Given the description of an element on the screen output the (x, y) to click on. 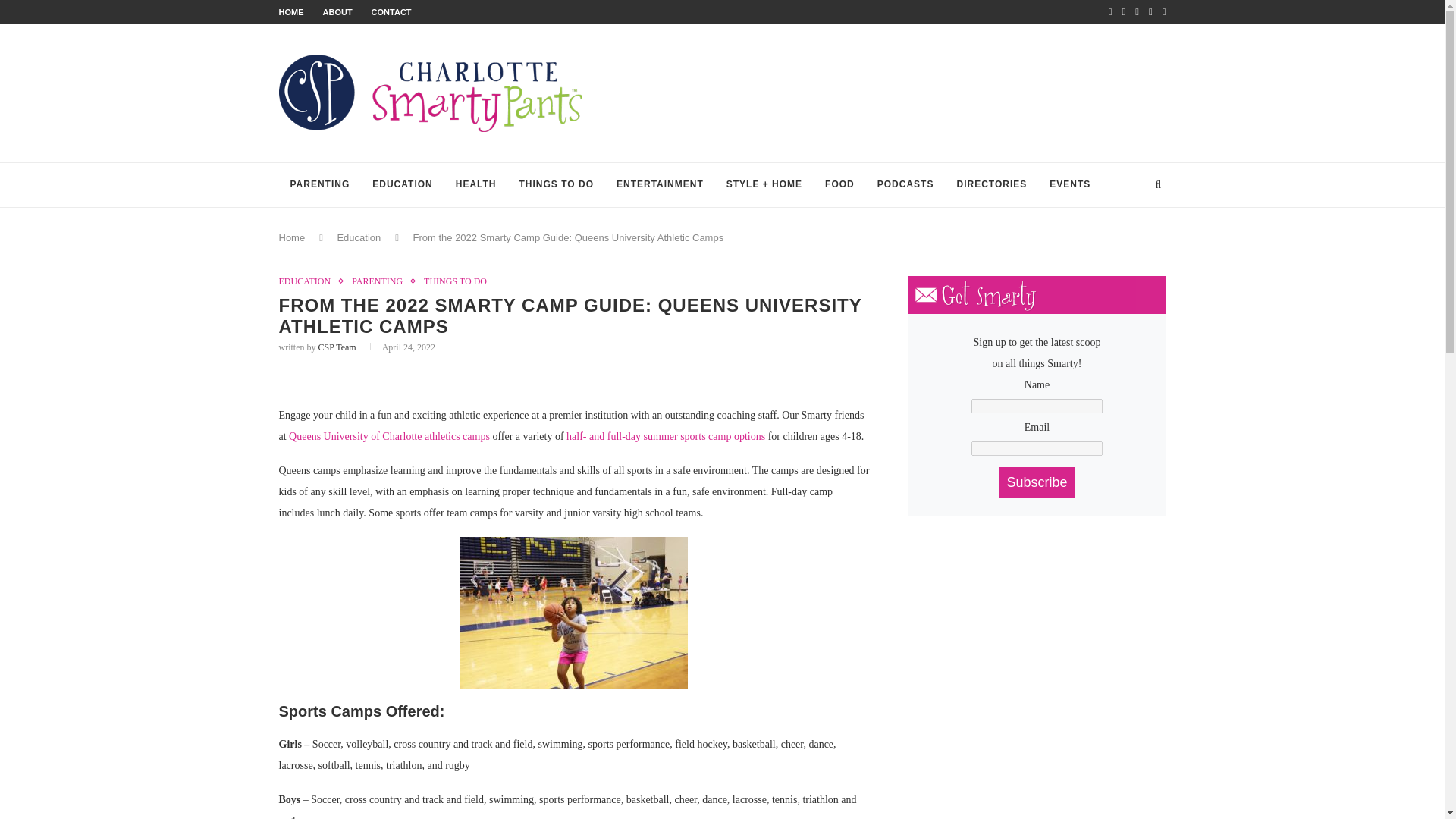
EVENTS (1070, 185)
HOME (291, 11)
THINGS TO DO (556, 185)
ENTERTAINMENT (659, 185)
HEALTH (476, 185)
PARENTING (320, 185)
FOOD (839, 185)
ABOUT (337, 11)
EDUCATION (309, 281)
Home (292, 237)
CONTACT (391, 11)
PODCASTS (905, 185)
EDUCATION (402, 185)
CSP Team (337, 347)
PARENTING (381, 281)
